Given the description of an element on the screen output the (x, y) to click on. 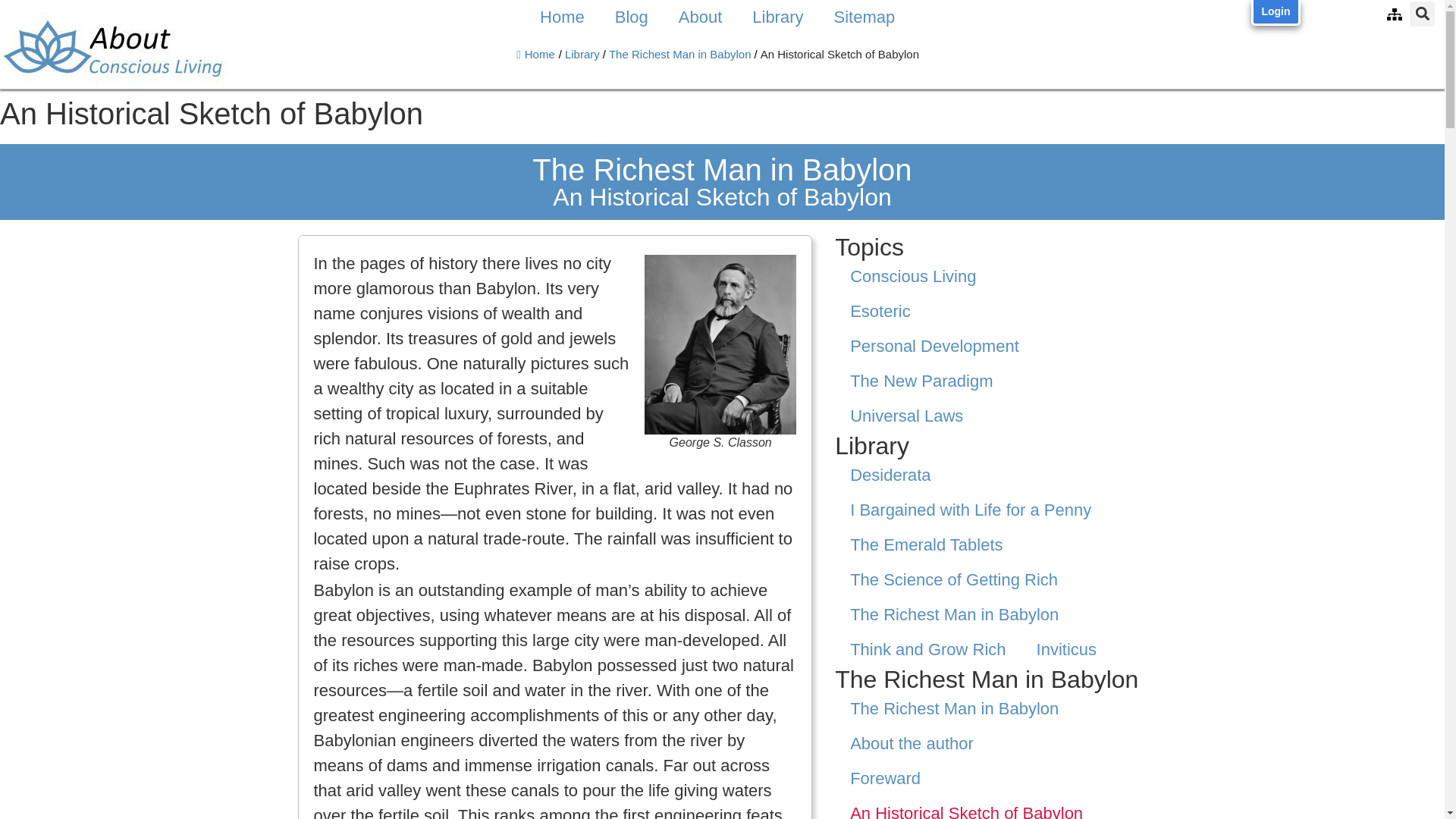
Library (777, 17)
The Richest Man in Babylon (679, 53)
Home (561, 17)
Conscious Living (990, 276)
About (700, 17)
Esoteric (990, 311)
Home (535, 53)
Sitemap (864, 17)
Universal Laws (990, 416)
Personal Development (990, 346)
